Given the description of an element on the screen output the (x, y) to click on. 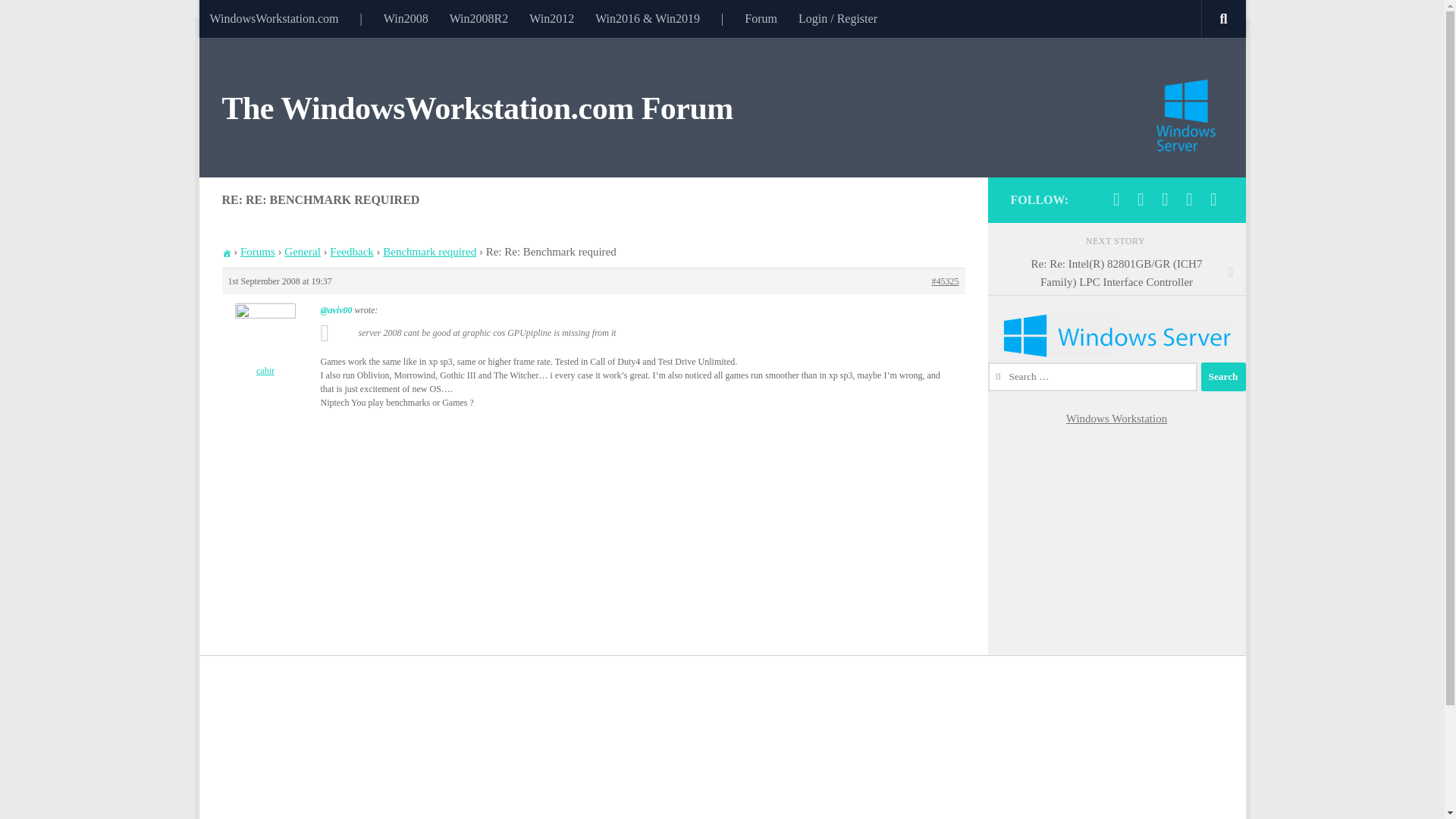
The WindowsWorkstation.com Forum (476, 108)
Follow us on Facebook (1115, 199)
WindowsWorkstation.com (273, 18)
Powered by Wordpress (1213, 199)
Search (1223, 376)
Win2008 (405, 18)
Win2012 (551, 18)
View cahir's profile (264, 340)
Follow us on Twitter (1140, 199)
cahir (264, 340)
Benchmark required (429, 251)
Feedback (351, 251)
Forums (257, 251)
Forum (760, 18)
